Given the description of an element on the screen output the (x, y) to click on. 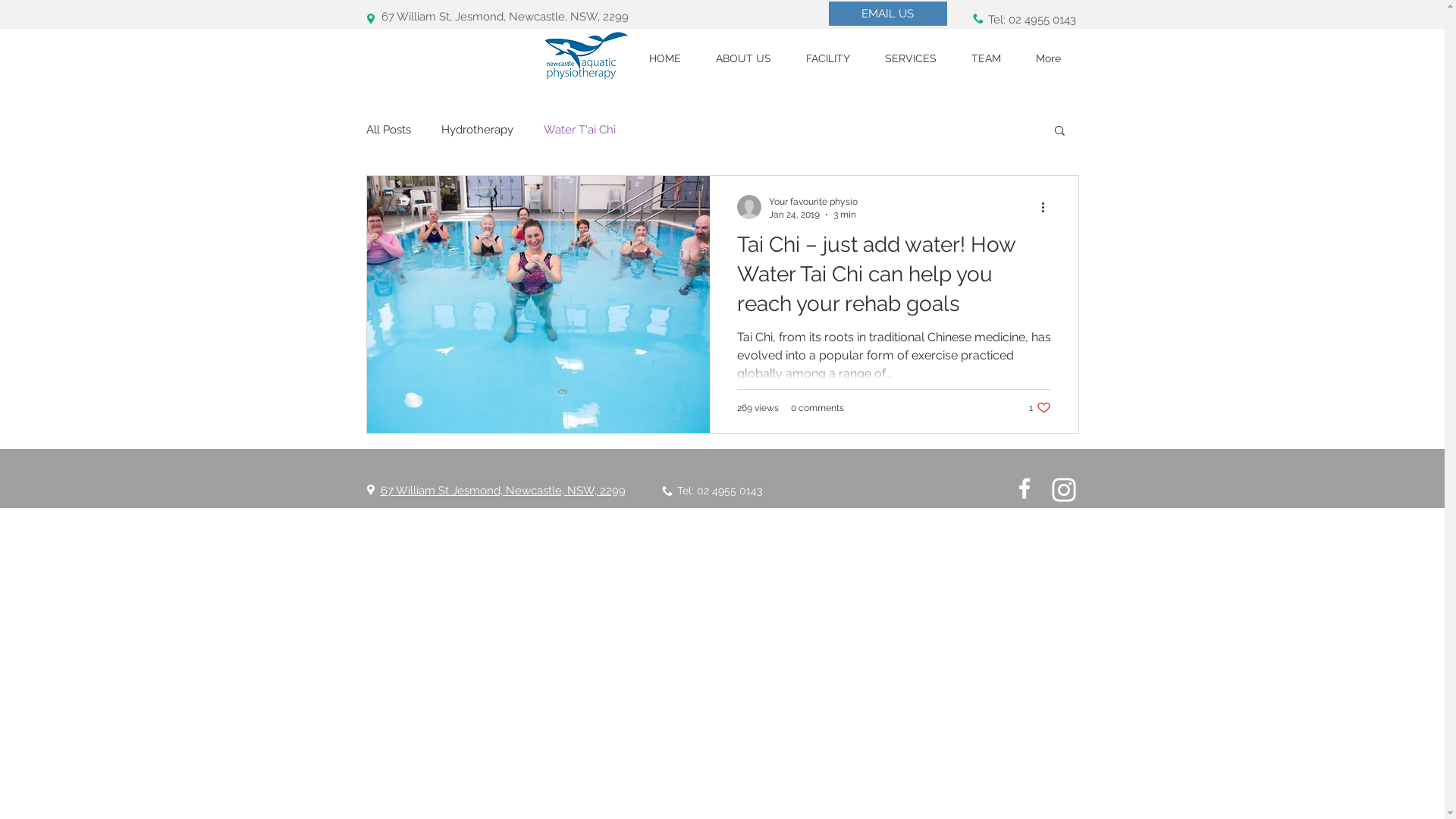
0 comments Element type: text (816, 406)
FACILITY Element type: text (827, 58)
ABOUT US Element type: text (742, 58)
Hydrotherapy Element type: text (477, 129)
All Posts Element type: text (387, 129)
Water T'ai Chi Element type: text (578, 129)
HOME Element type: text (663, 58)
EMAIL US Element type: text (887, 13)
TEAM Element type: text (985, 58)
SERVICES Element type: text (910, 58)
1 like. Post not marked as liked
1 Element type: text (1039, 407)
67 William St Jesmond, Newcastle, NSW, 2299 Element type: text (502, 490)
